Given the description of an element on the screen output the (x, y) to click on. 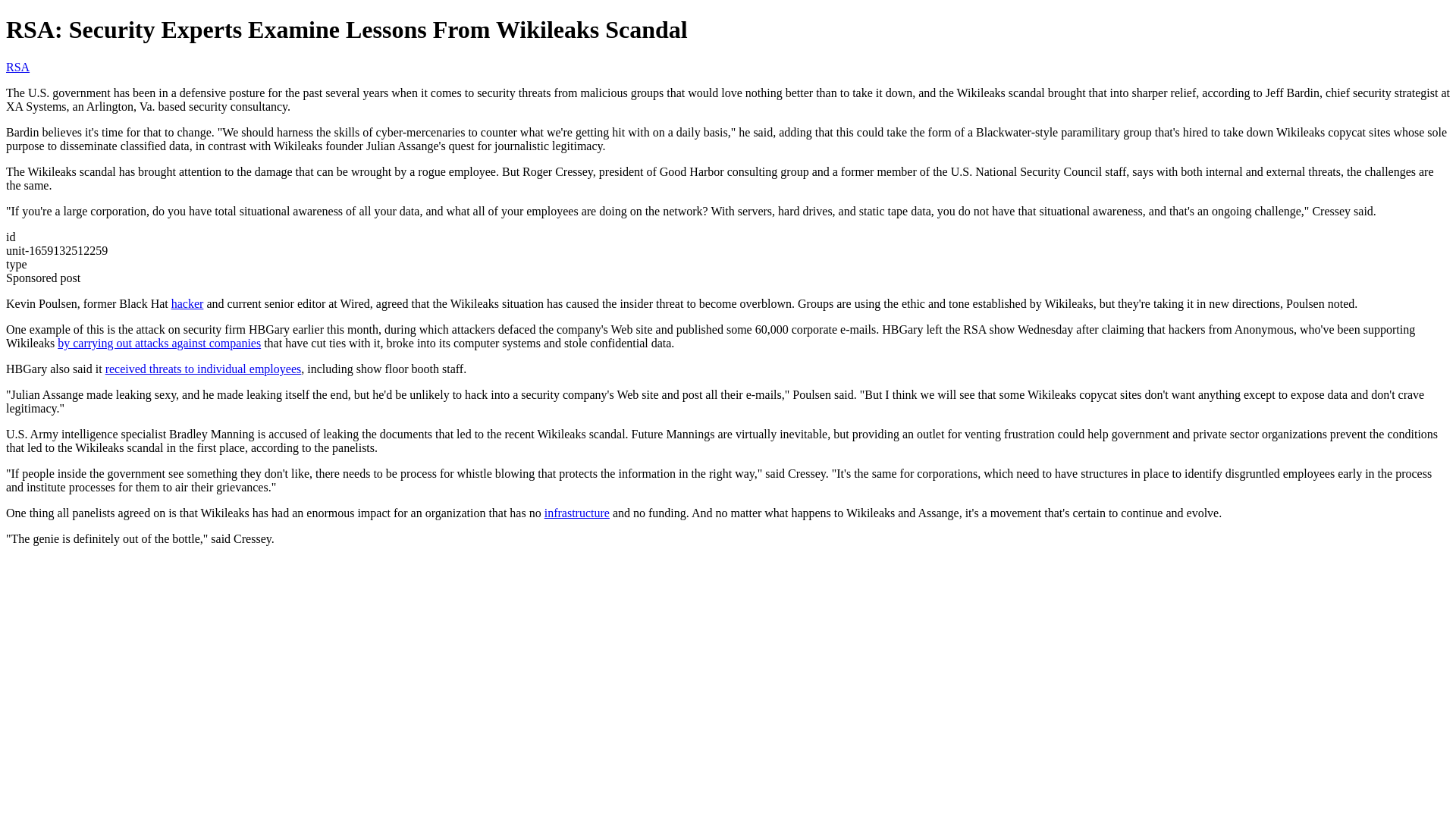
received threats to individual employees (202, 368)
RSA (17, 66)
by carrying out attacks against companies (159, 342)
infrastructure (577, 512)
hacker (187, 303)
